Given the description of an element on the screen output the (x, y) to click on. 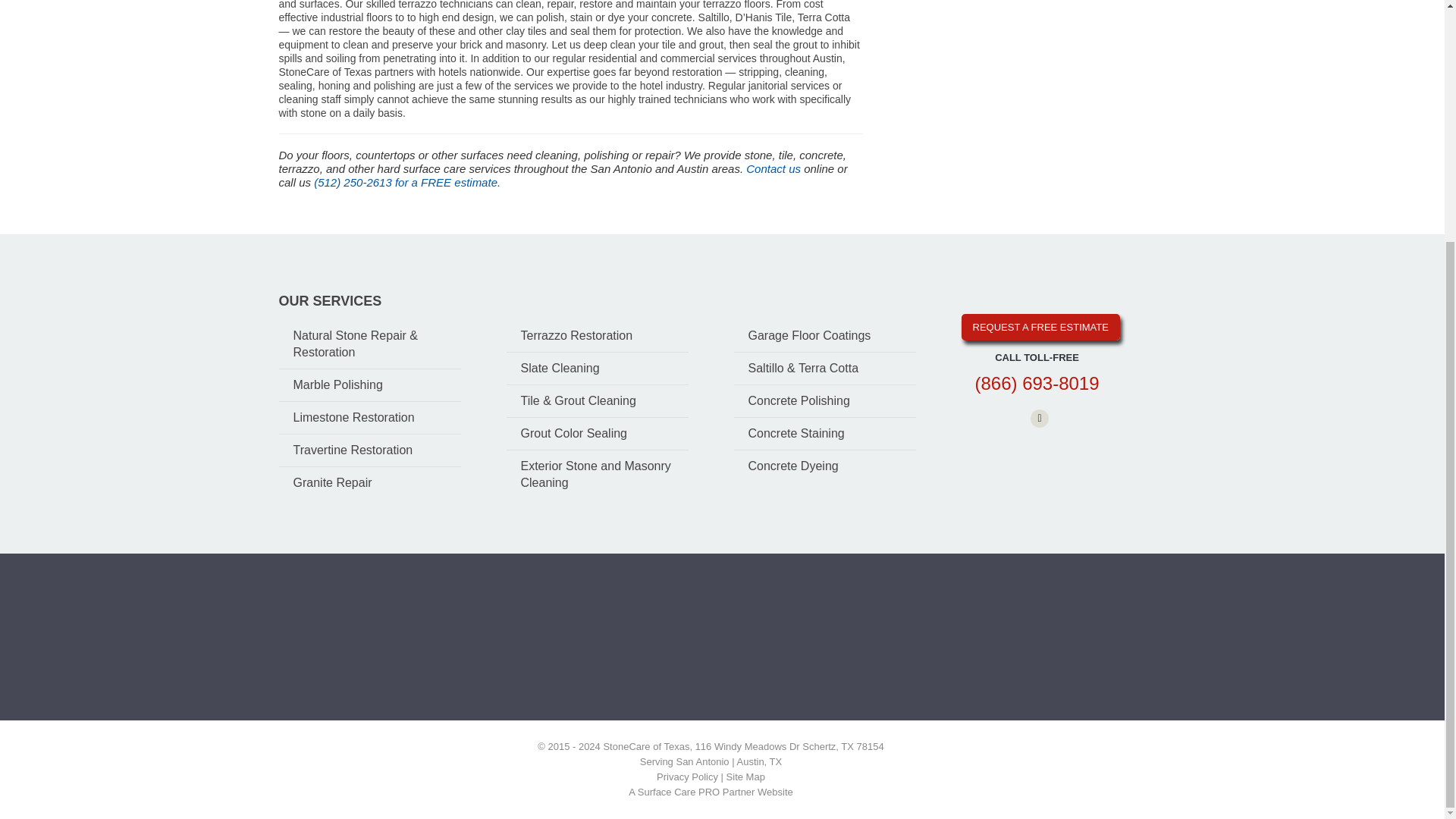
Contact us (772, 168)
Granite Repair (370, 482)
Click To Call (1036, 383)
abc (831, 646)
Marble Polishing (370, 385)
Slate Cleaning (597, 368)
Travertine Restoration (370, 450)
Limestone Restoration (370, 418)
Certified SafeandCompliant.net Company. Click to verify. (715, 636)
Terrazzo Restoration (597, 336)
Surface Care PRO Partner. Click to verify. (582, 644)
facebook (1039, 418)
